Given the description of an element on the screen output the (x, y) to click on. 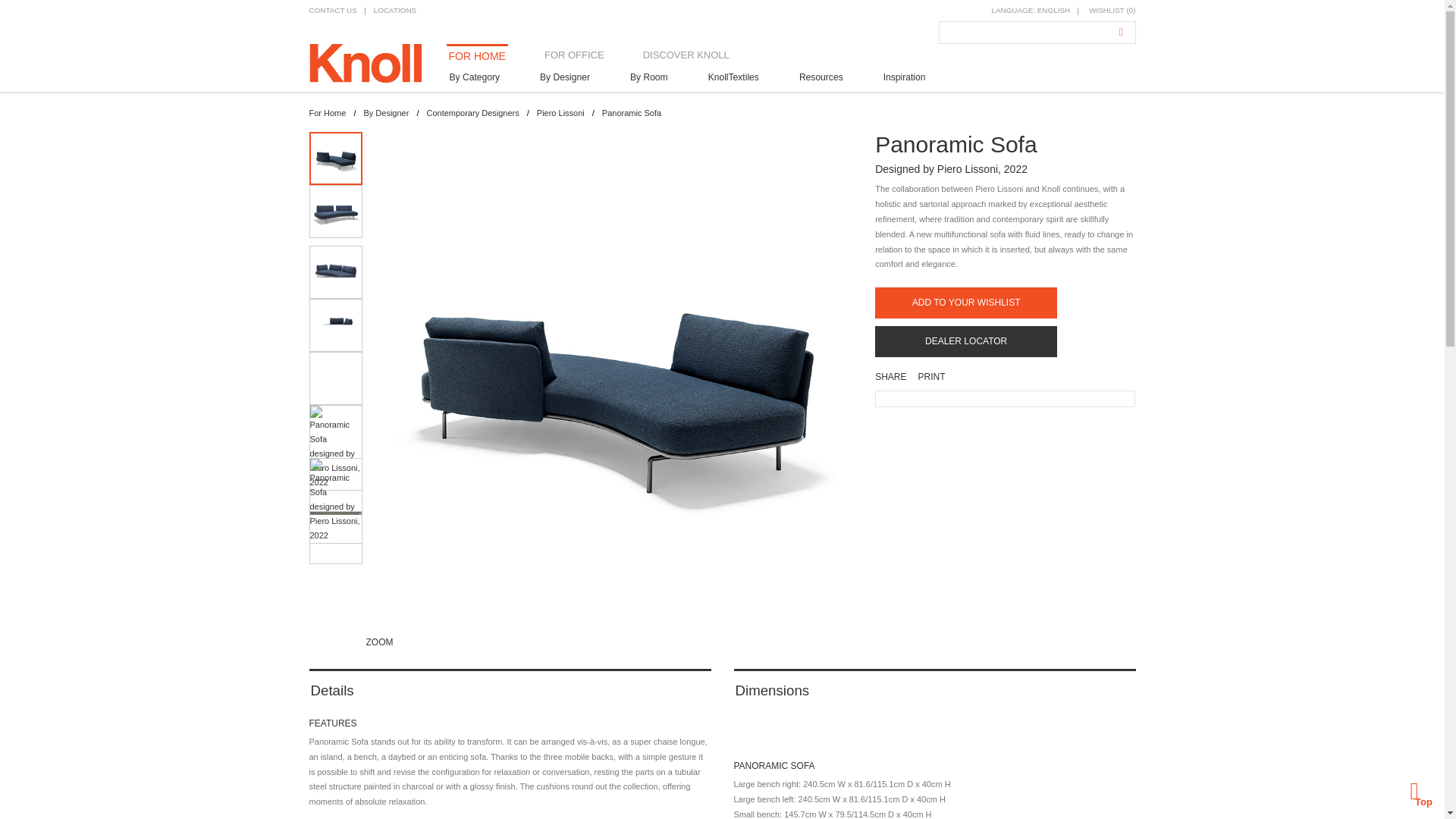
FOR HOME (475, 55)
Resources (820, 78)
Panoramic Sofa designed by Piero Lissoni, 2022 (335, 325)
KnollTextiles (732, 78)
Panoramic Sofa designed by Piero Lissoni, 2022 (335, 158)
Panoramic Sofa designed by Piero Lissoni, 2022 (335, 271)
Panoramic Sofa designed by Piero Lissoni, 2022 (335, 211)
LANGUAGE: ENGLISH (1030, 10)
By Designer (564, 78)
By Category (473, 78)
